Given the description of an element on the screen output the (x, y) to click on. 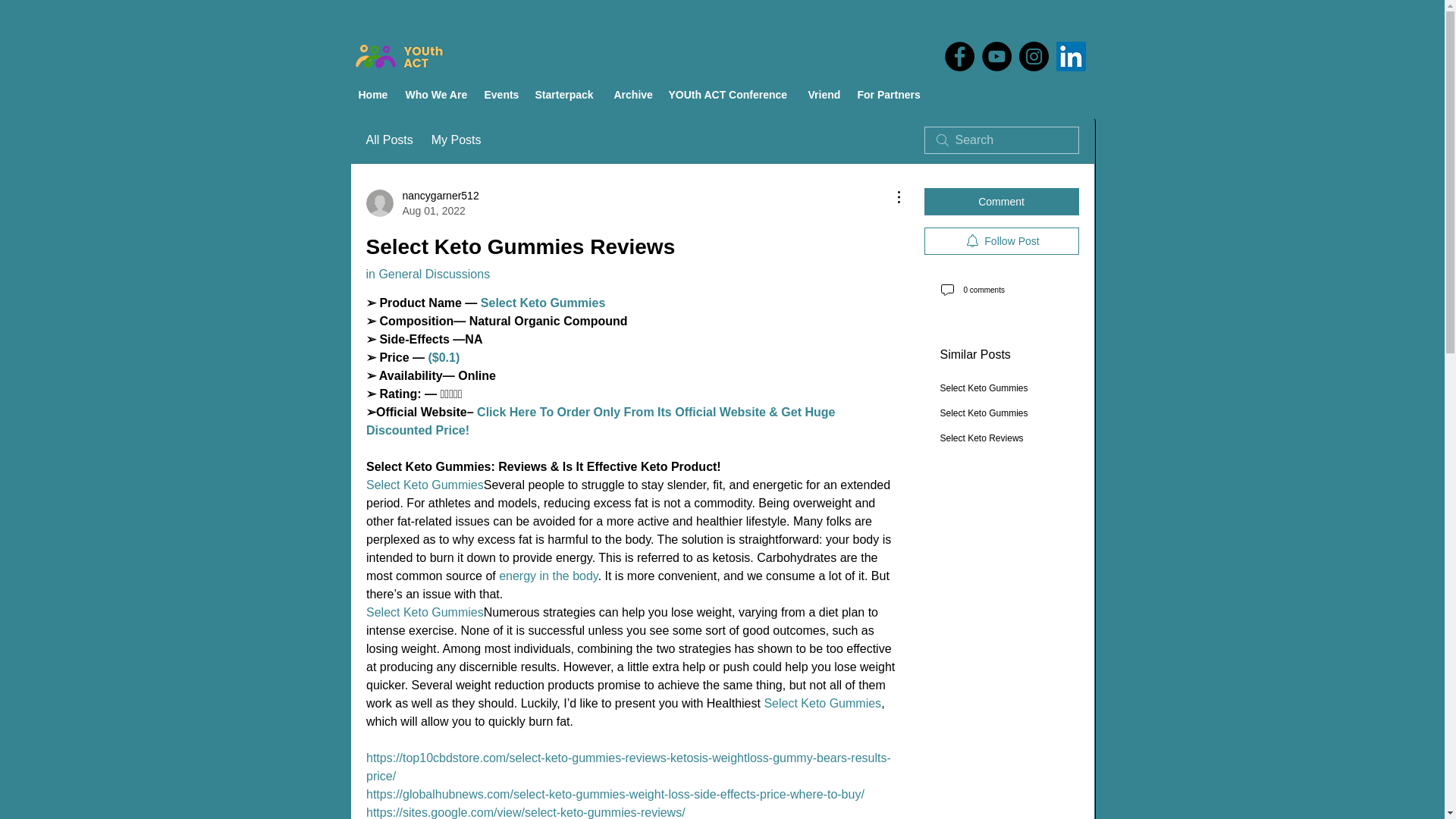
Select Keto Gummies (424, 484)
Vriend (825, 94)
Events (501, 94)
My Posts (455, 140)
in General Discussions (427, 273)
YOUth ACT Conference (730, 94)
Select Keto Gummies (821, 703)
Select Keto Gummies (424, 612)
Select Keto Gummies (422, 203)
